Given the description of an element on the screen output the (x, y) to click on. 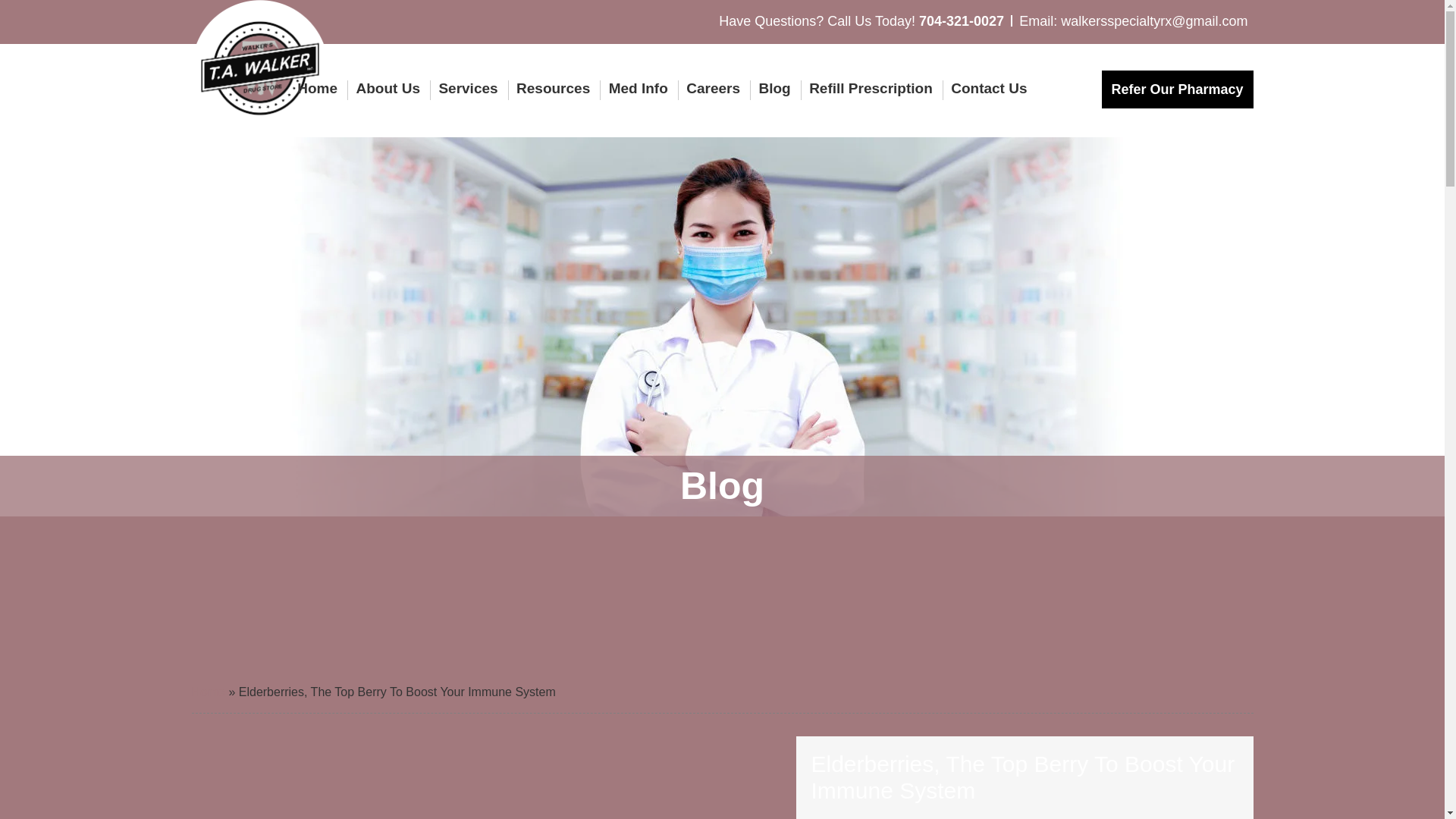
Refer Our Pharmacy (1176, 89)
Careers (713, 88)
Home (321, 88)
Resources (552, 88)
Home (207, 691)
Services (467, 88)
Contact Us (984, 88)
About Us (388, 88)
Blog (774, 88)
Refill Prescription (871, 88)
